Given the description of an element on the screen output the (x, y) to click on. 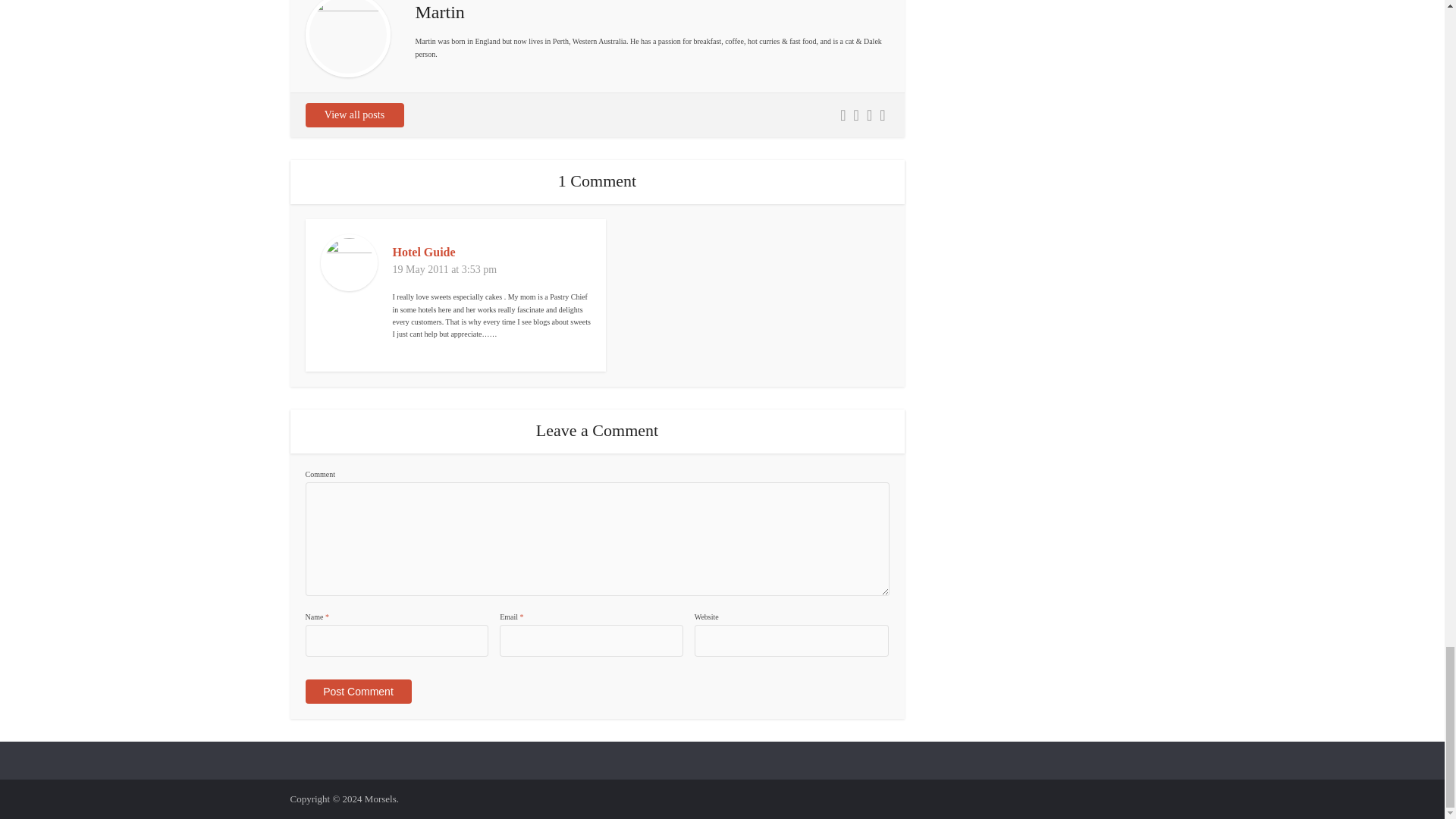
Post Comment (357, 691)
